Given the description of an element on the screen output the (x, y) to click on. 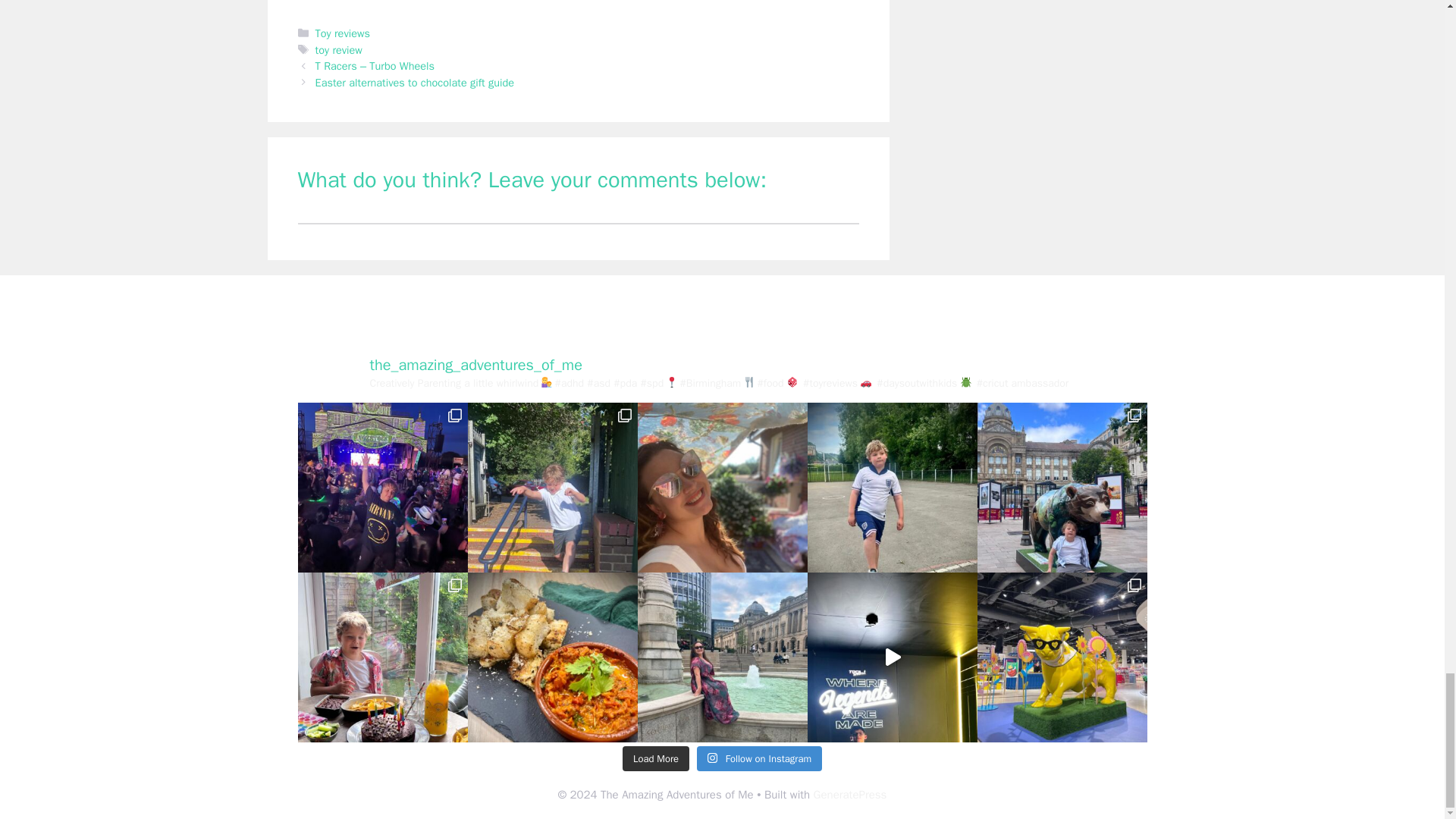
Easter alternatives to chocolate gift guide (414, 82)
toy review (338, 49)
Toy reviews (342, 33)
